Given the description of an element on the screen output the (x, y) to click on. 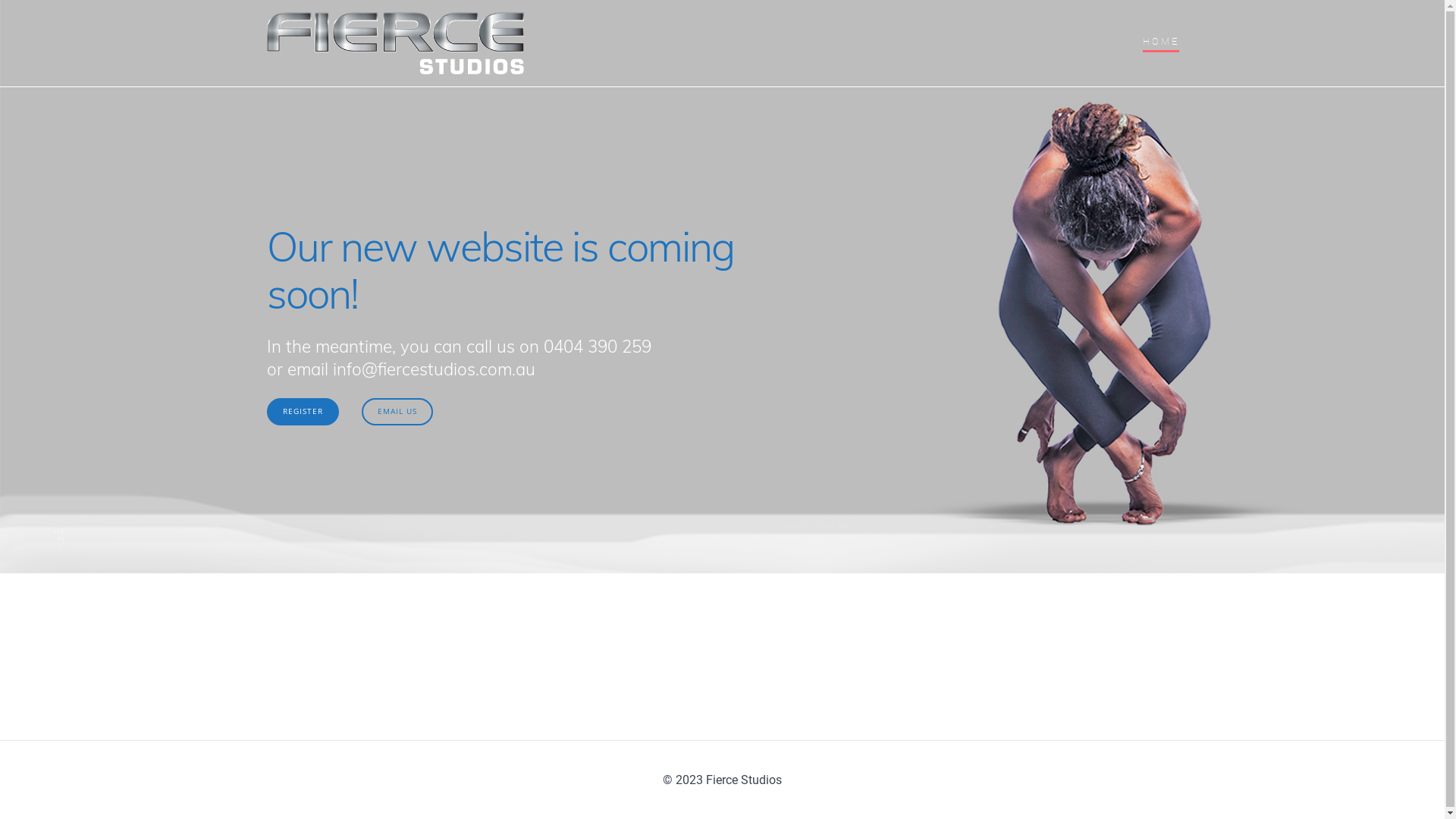
HOME Element type: text (1160, 43)
REGISTER Element type: text (302, 411)
EMAIL US Element type: text (397, 411)
